Given the description of an element on the screen output the (x, y) to click on. 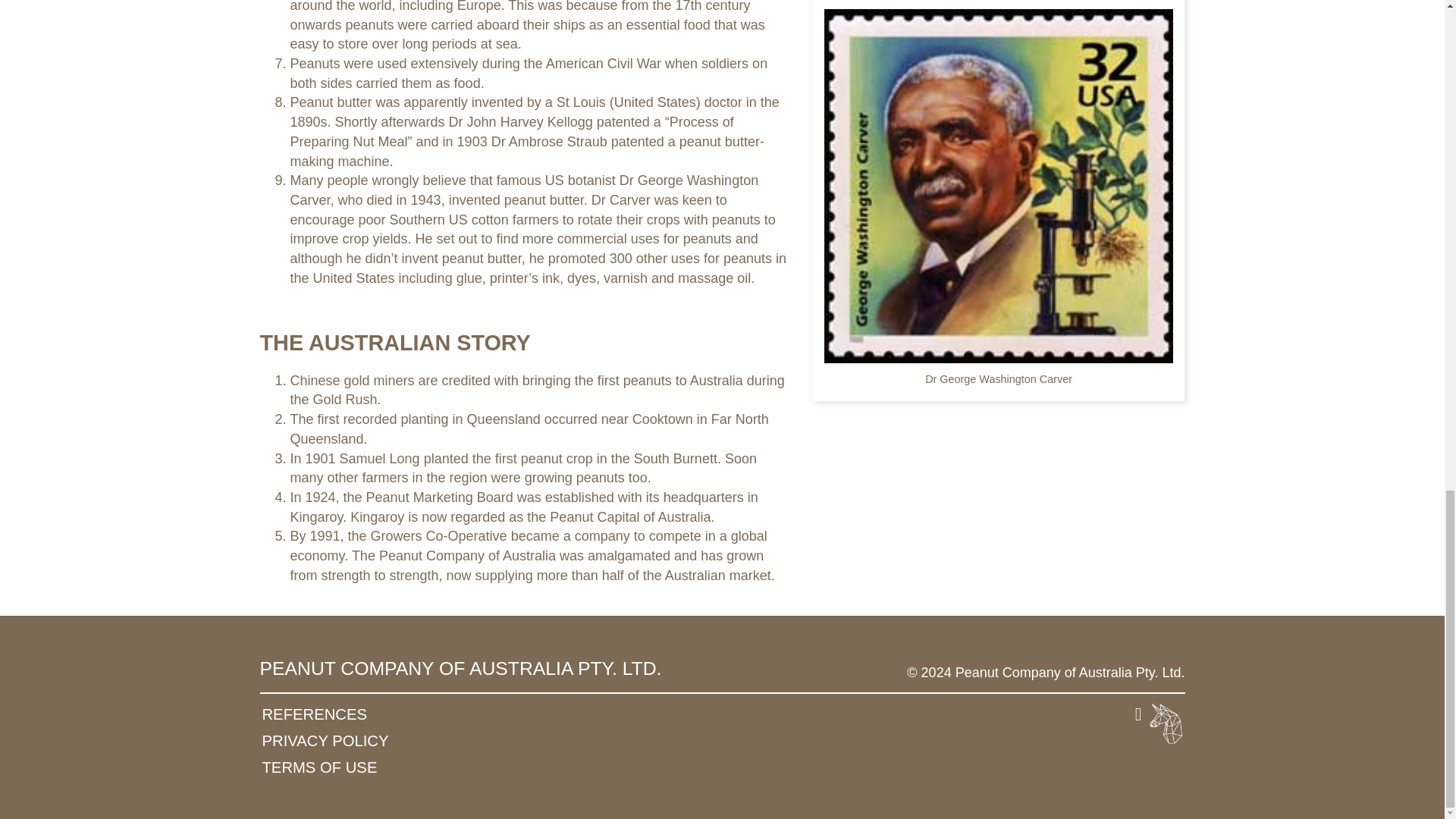
PRIVACY POLICY (366, 741)
REFERENCES (366, 714)
TERMS OF USE (366, 767)
